Given the description of an element on the screen output the (x, y) to click on. 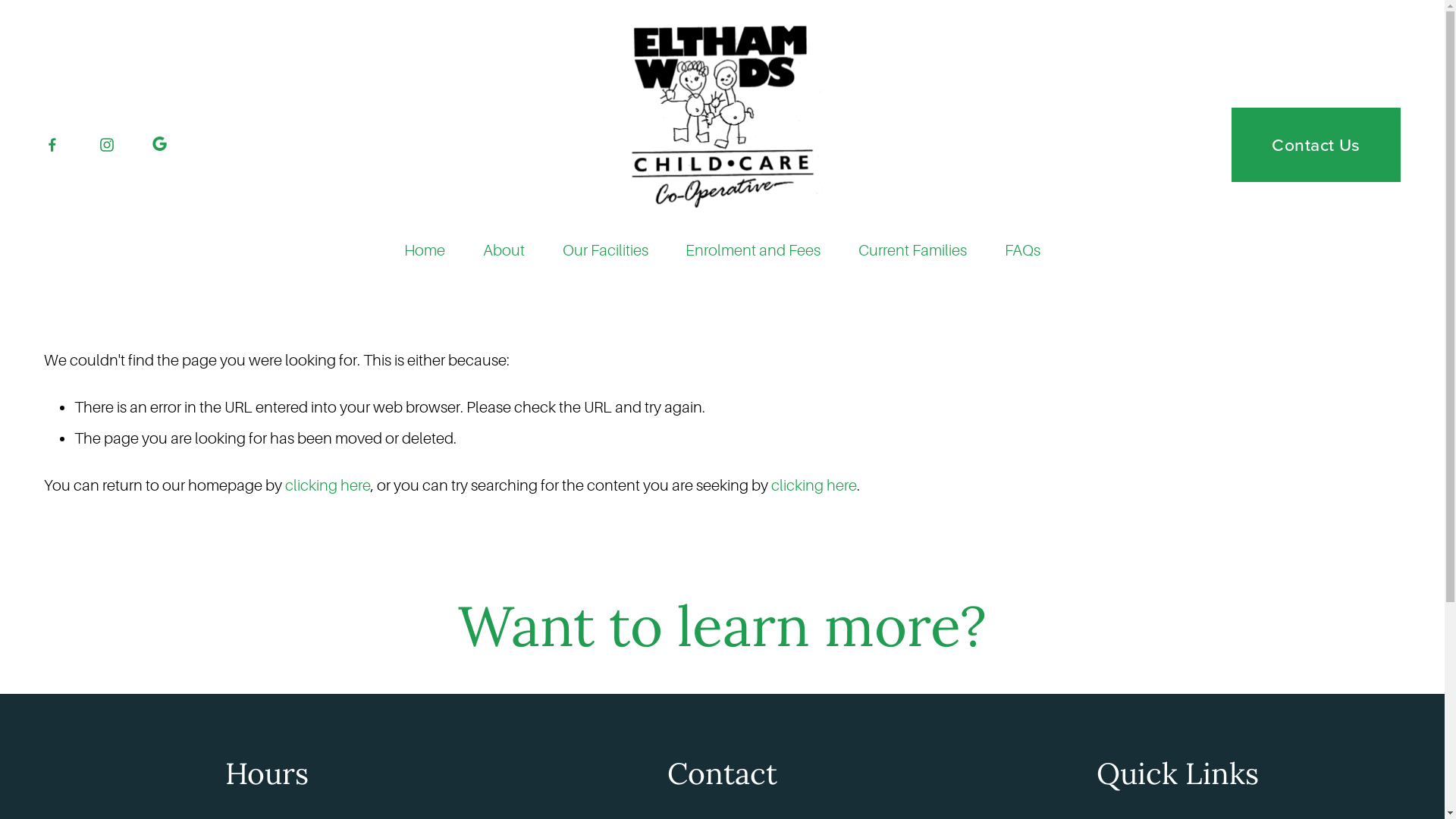
Current Families Element type: text (912, 250)
Want to learn more? Element type: text (722, 625)
Contact Us Element type: text (1316, 144)
About Element type: text (503, 250)
Our Facilities Element type: text (605, 250)
clicking here Element type: text (813, 485)
Home Element type: text (424, 250)
Enrolment and Fees Element type: text (752, 250)
FAQs Element type: text (1022, 250)
clicking here Element type: text (327, 485)
